Given the description of an element on the screen output the (x, y) to click on. 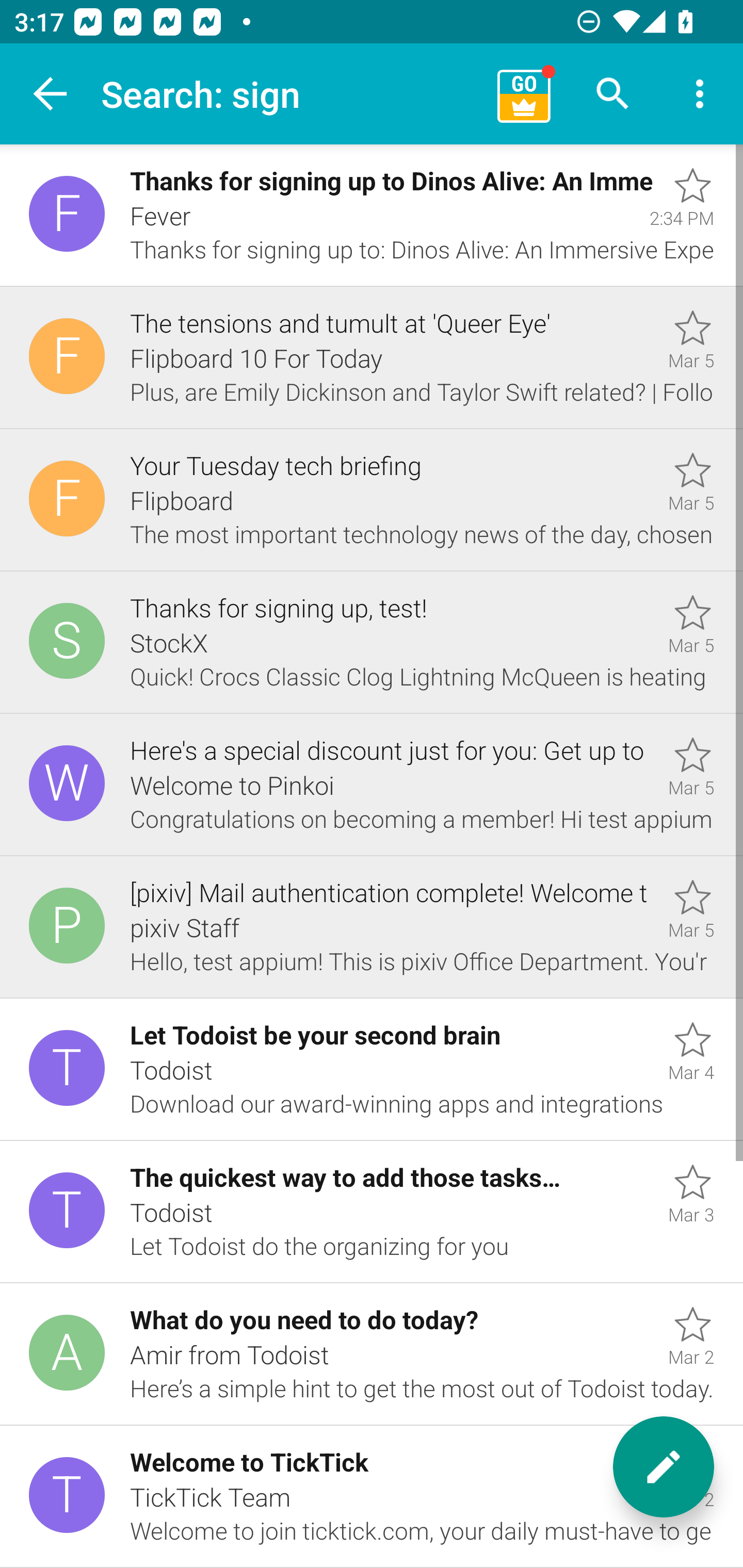
Navigate up (50, 93)
Search (612, 93)
More options (699, 93)
New message (663, 1466)
